Given the description of an element on the screen output the (x, y) to click on. 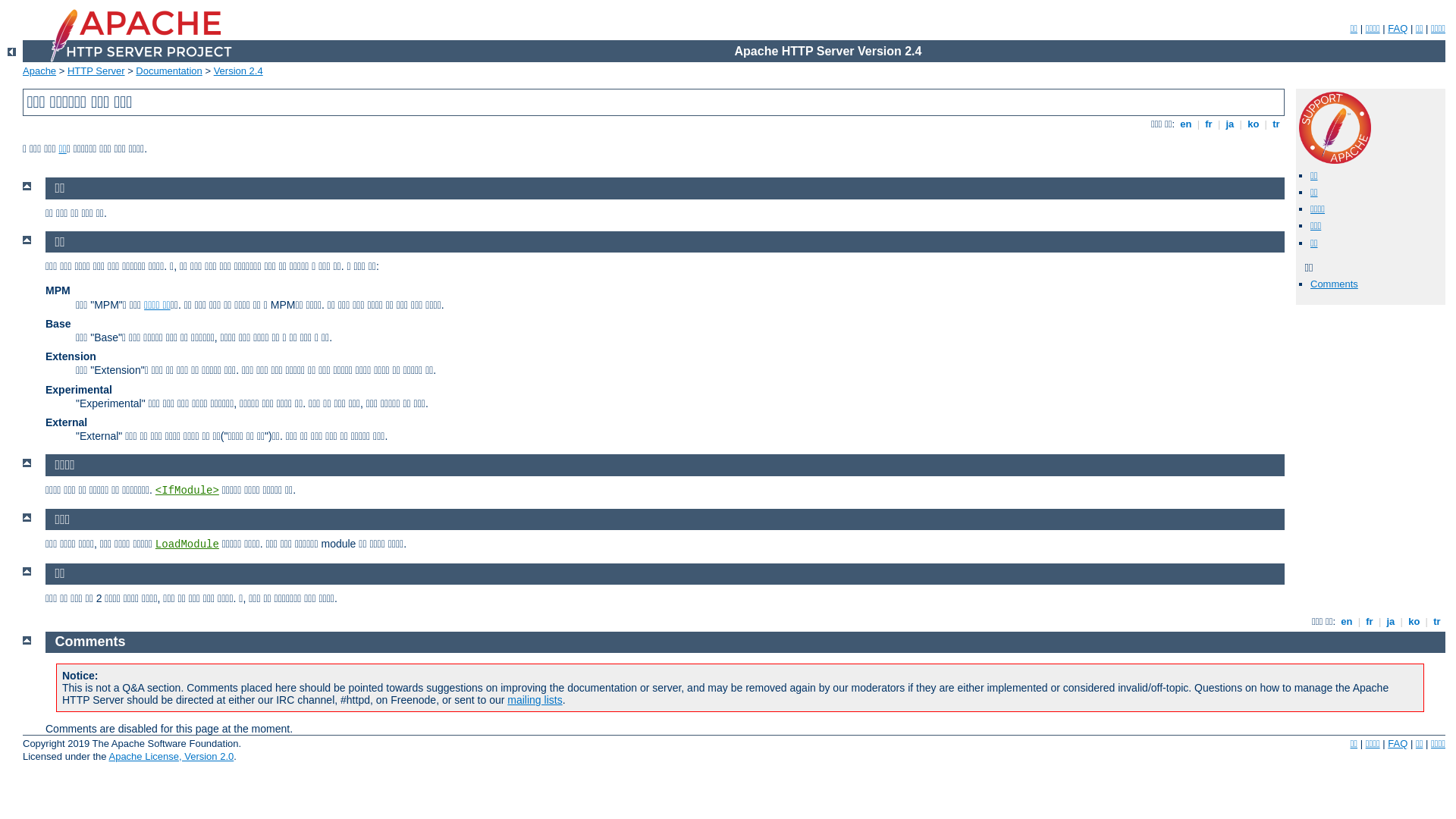
 ja  Element type: text (1229, 123)
 fr  Element type: text (1369, 621)
 tr  Element type: text (1276, 123)
<IfModule> Element type: text (187, 490)
<- Element type: hover (11, 51)
mailing lists Element type: text (534, 699)
Version 2.4 Element type: text (238, 70)
 en  Element type: text (1346, 621)
 fr  Element type: text (1208, 123)
 ko  Element type: text (1413, 621)
 tr  Element type: text (1436, 621)
HTTP Server Element type: text (96, 70)
Documentation Element type: text (168, 70)
 ja  Element type: text (1390, 621)
 ko  Element type: text (1253, 123)
Apache License, Version 2.0 Element type: text (170, 756)
Apache Element type: text (39, 70)
FAQ Element type: text (1397, 743)
LoadModule Element type: text (187, 544)
Comments Element type: text (1334, 283)
FAQ Element type: text (1397, 28)
 en  Element type: text (1185, 123)
Comments Element type: text (90, 641)
